Given the description of an element on the screen output the (x, y) to click on. 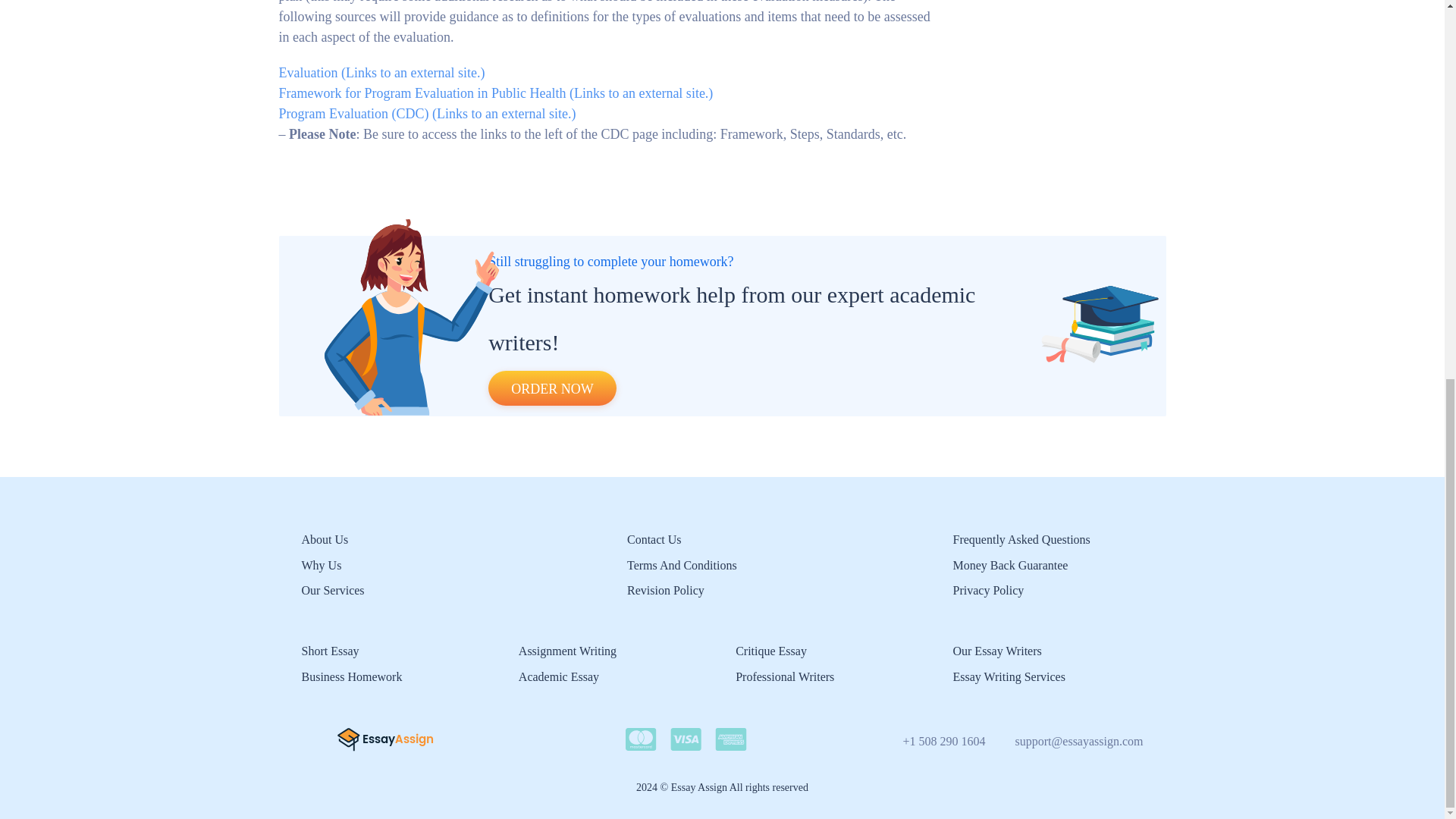
ORDER NOW (551, 388)
About Us (325, 539)
Evaluation - opens in a new window (381, 72)
Why Us (321, 564)
Program Evaluation - opens in a new window (427, 113)
Our Services (333, 590)
